Given the description of an element on the screen output the (x, y) to click on. 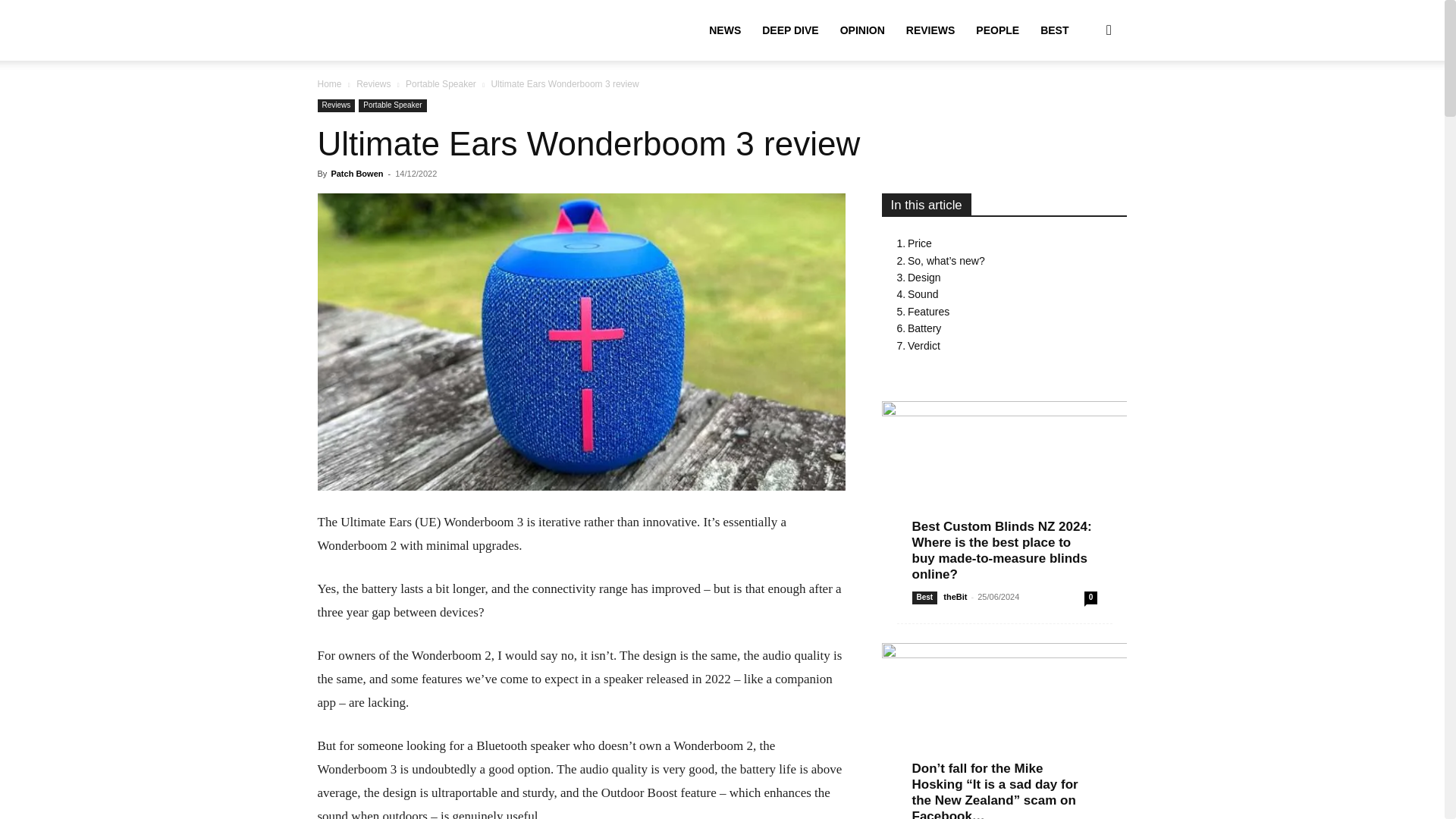
Portable Speaker (441, 83)
Portable Speaker (392, 105)
DEEP DIVE (789, 30)
Reviews (373, 83)
Patch Bowen (356, 173)
Search (1085, 102)
OPINION (862, 30)
PEOPLE (997, 30)
Home (328, 83)
View all posts in Portable Speaker (441, 83)
